Given the description of an element on the screen output the (x, y) to click on. 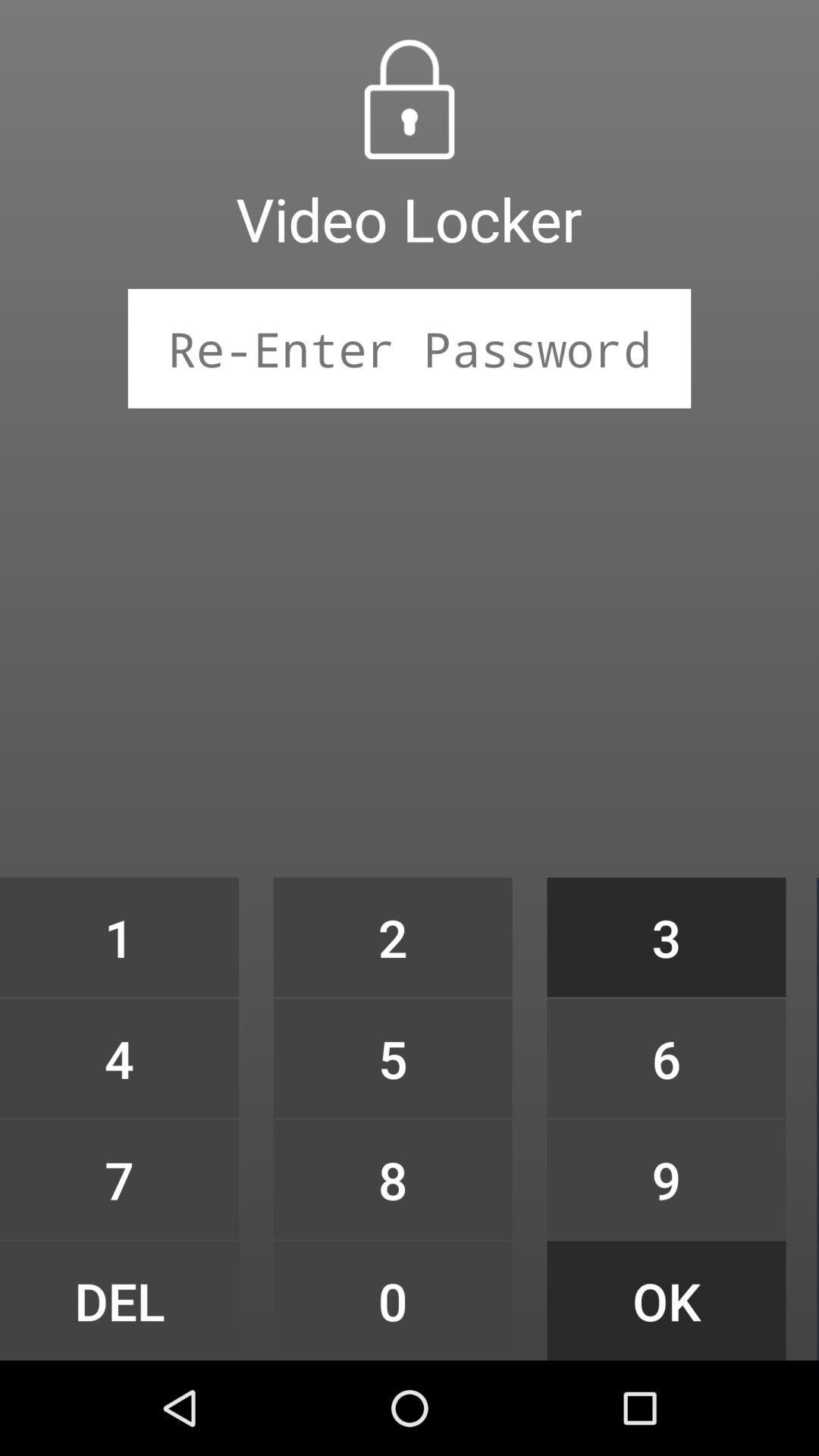
press 0 (392, 1300)
